Given the description of an element on the screen output the (x, y) to click on. 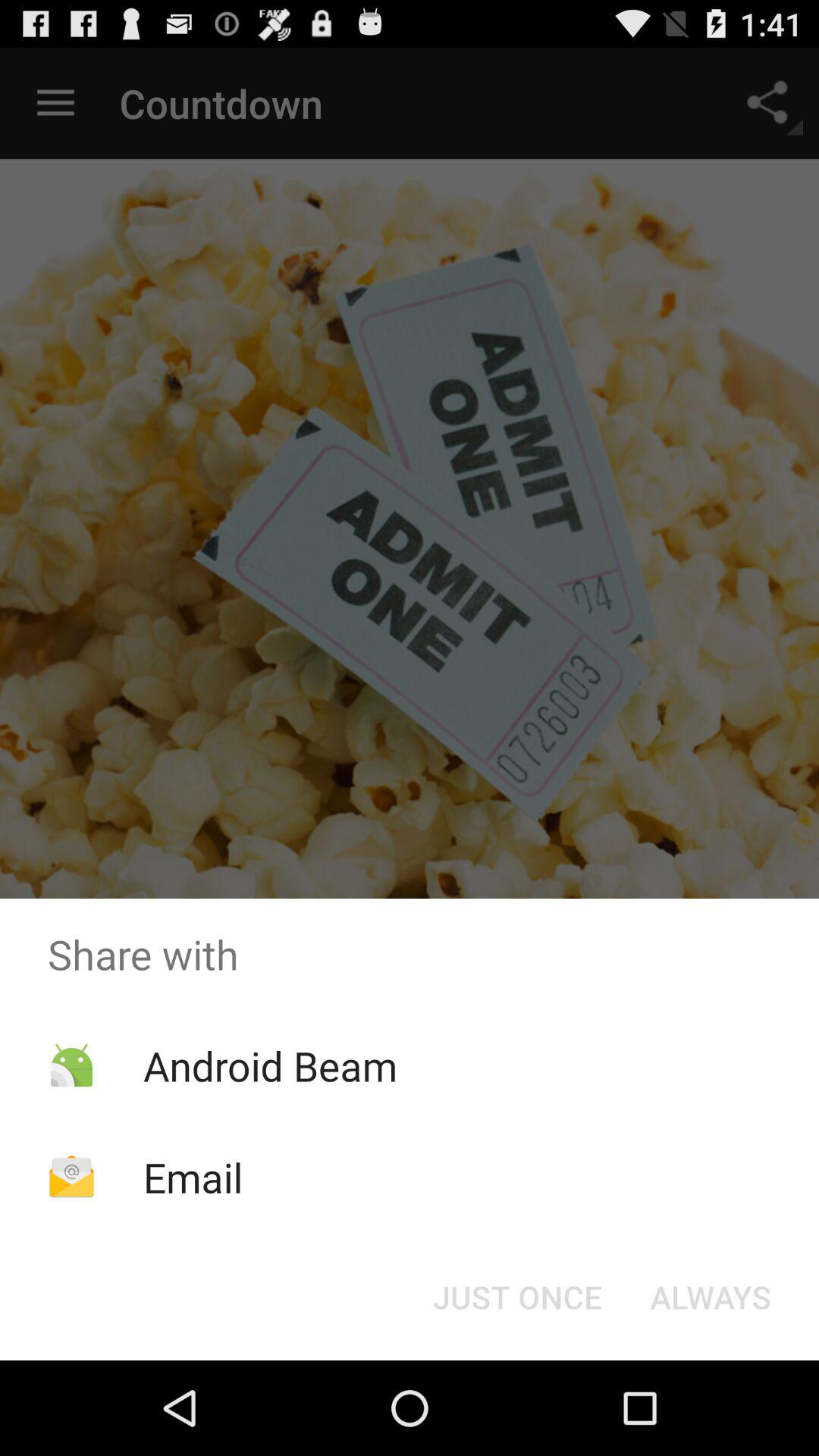
jump until always button (710, 1296)
